Given the description of an element on the screen output the (x, y) to click on. 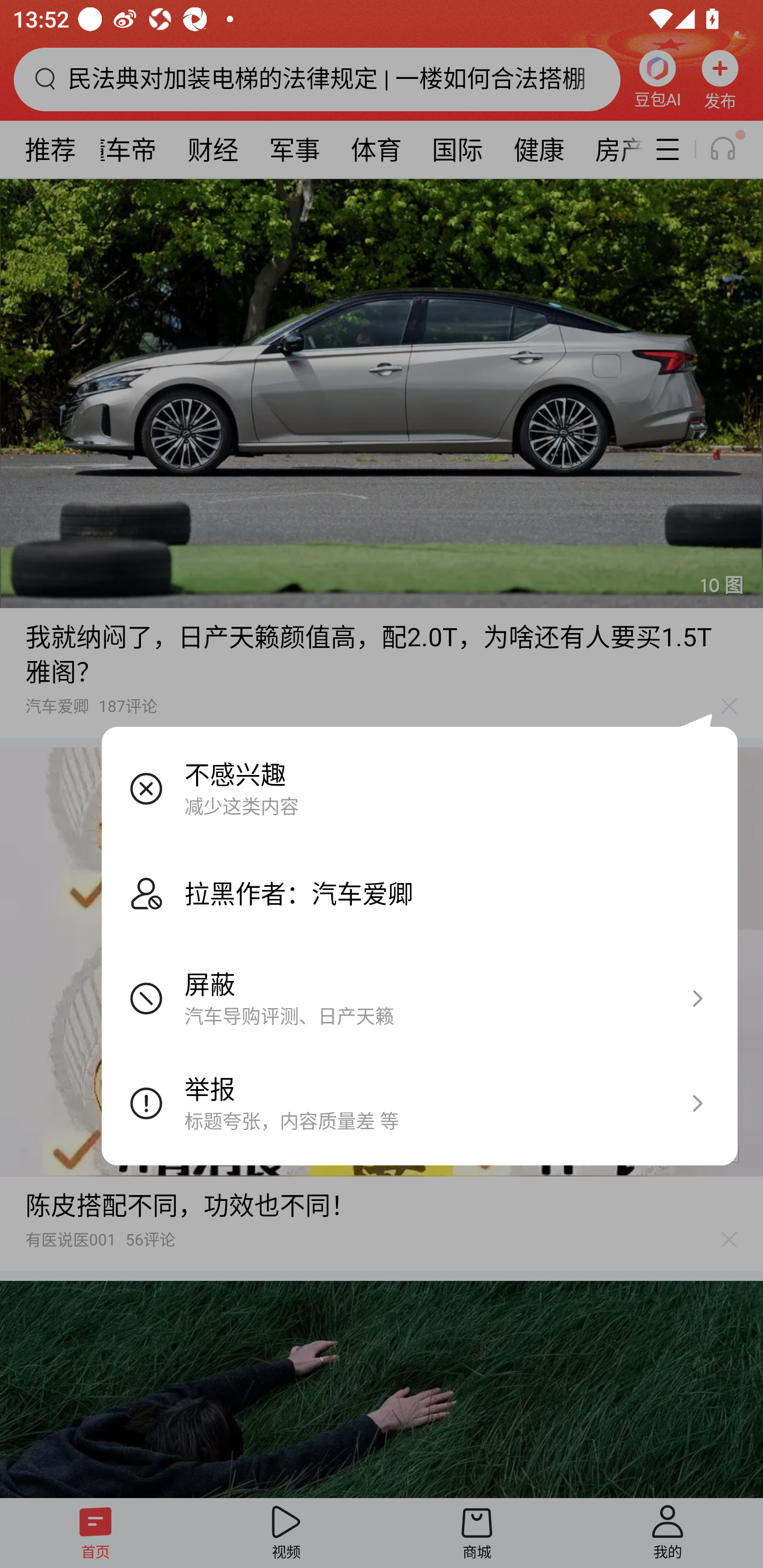
不感兴趣 减少这类内容 (419, 788)
拉黑作者：汽车爱卿 (419, 892)
屏蔽 汽车导购评测、日产天籁 (419, 997)
举报 标题夸张，内容质量差 等 (419, 1102)
